Given the description of an element on the screen output the (x, y) to click on. 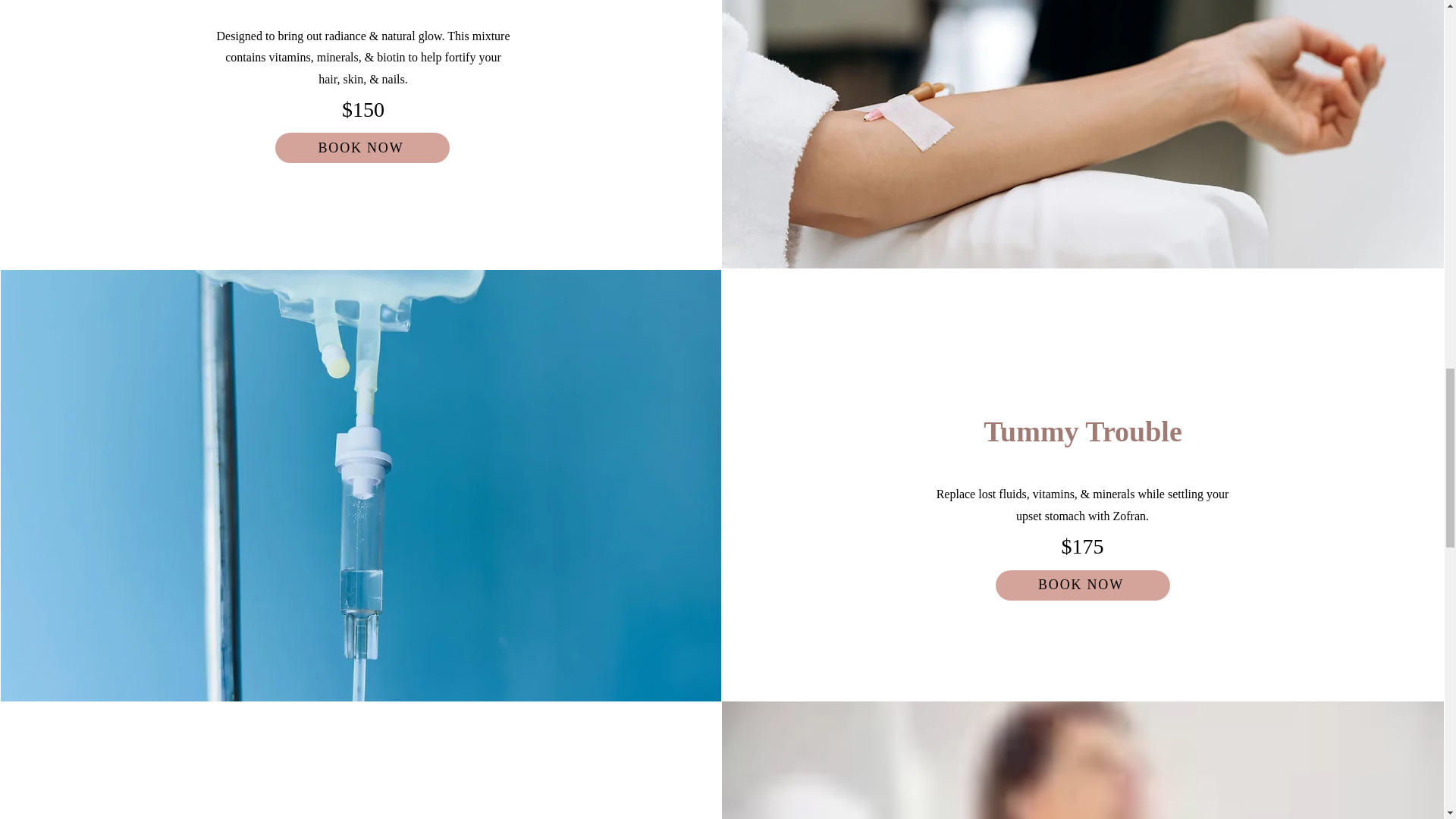
BOOK NOW (1082, 585)
BOOK NOW (362, 147)
